Given the description of an element on the screen output the (x, y) to click on. 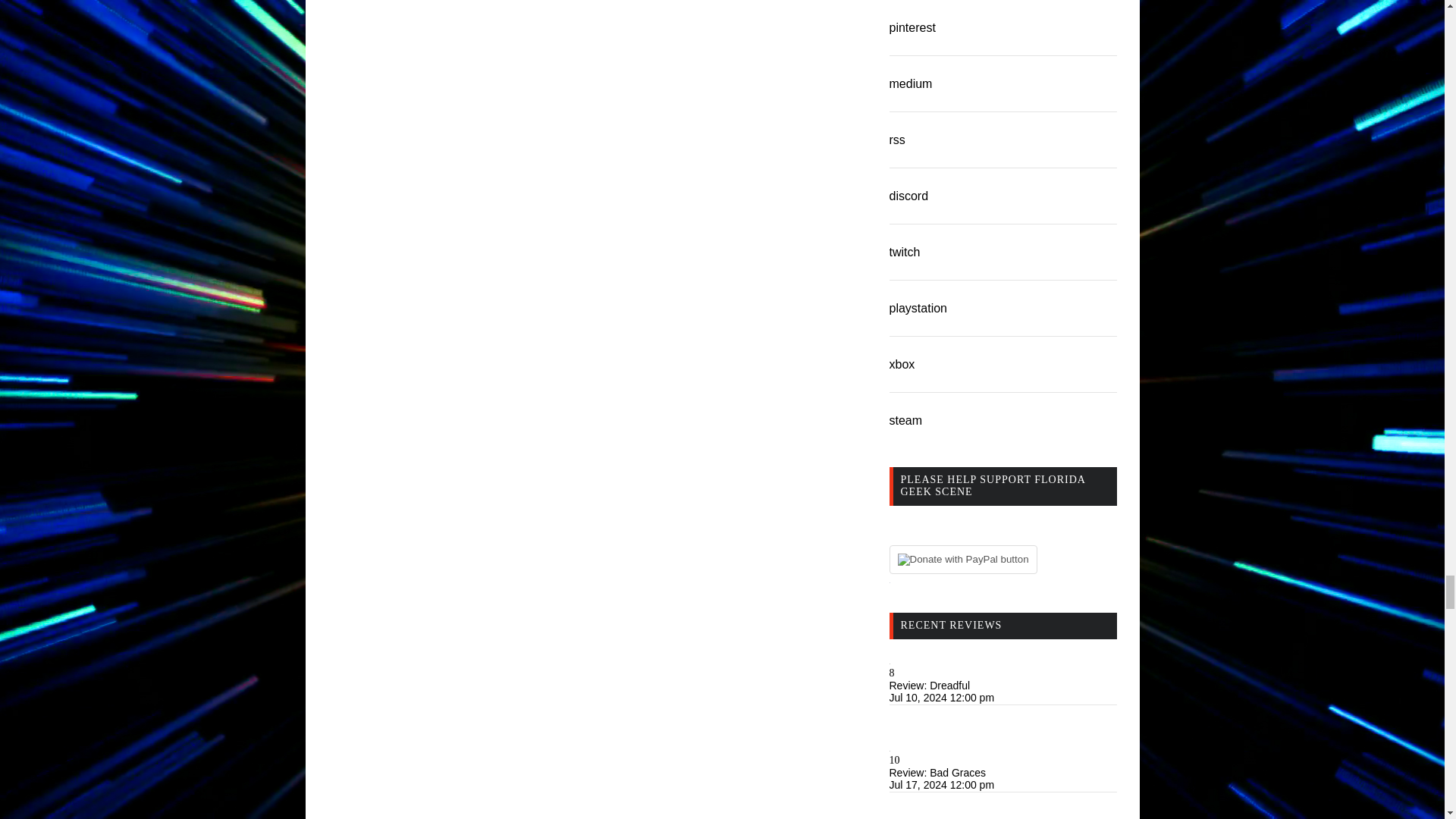
Pinterest (911, 27)
Medium (909, 83)
XBOX (901, 364)
Discord (908, 195)
PlayStation (917, 308)
RSS (896, 139)
Twitch (904, 251)
